Given the description of an element on the screen output the (x, y) to click on. 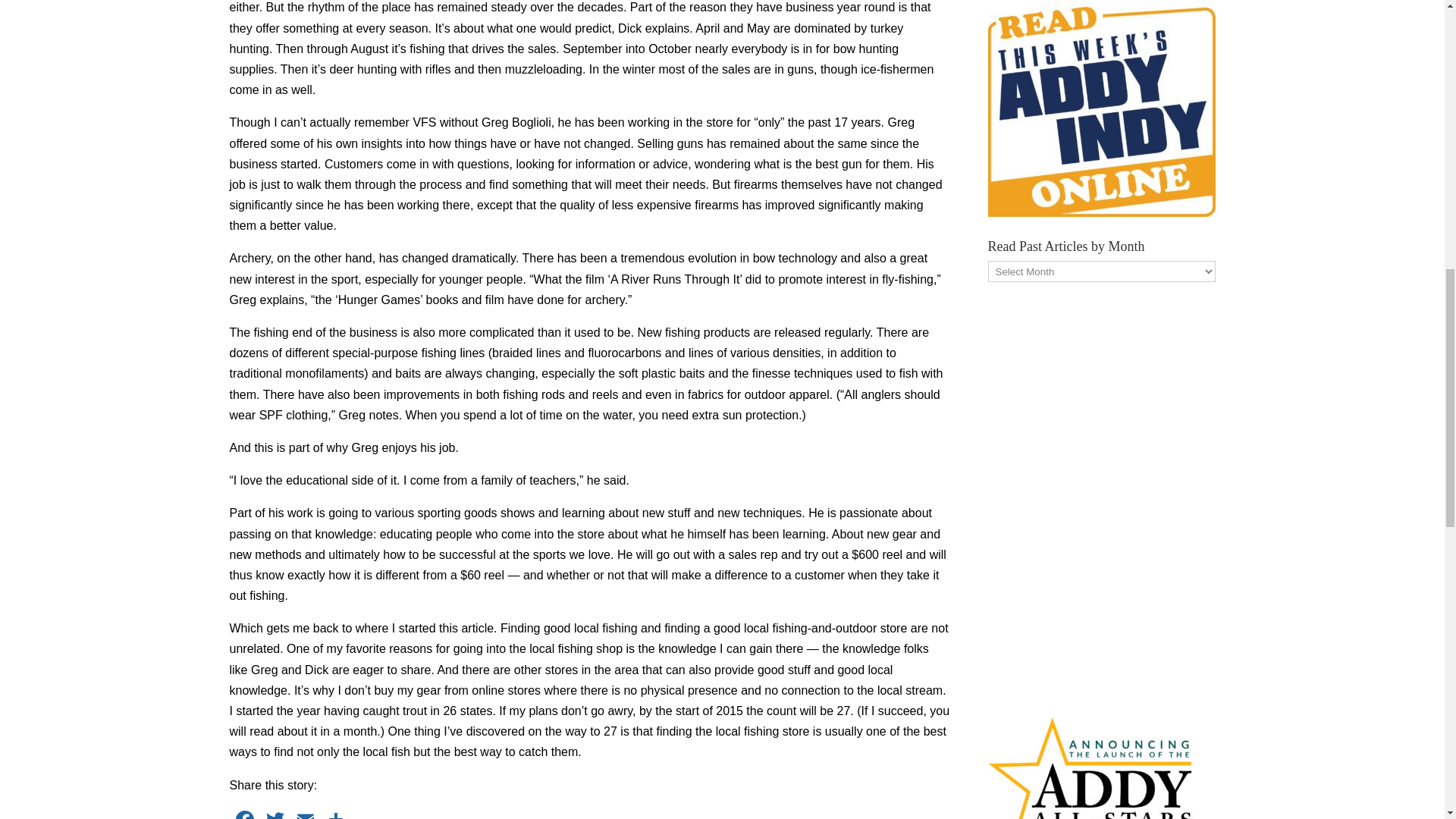
Email (304, 813)
Facebook (243, 813)
Twitter (274, 813)
3rd party ad content (1100, 493)
